Given the description of an element on the screen output the (x, y) to click on. 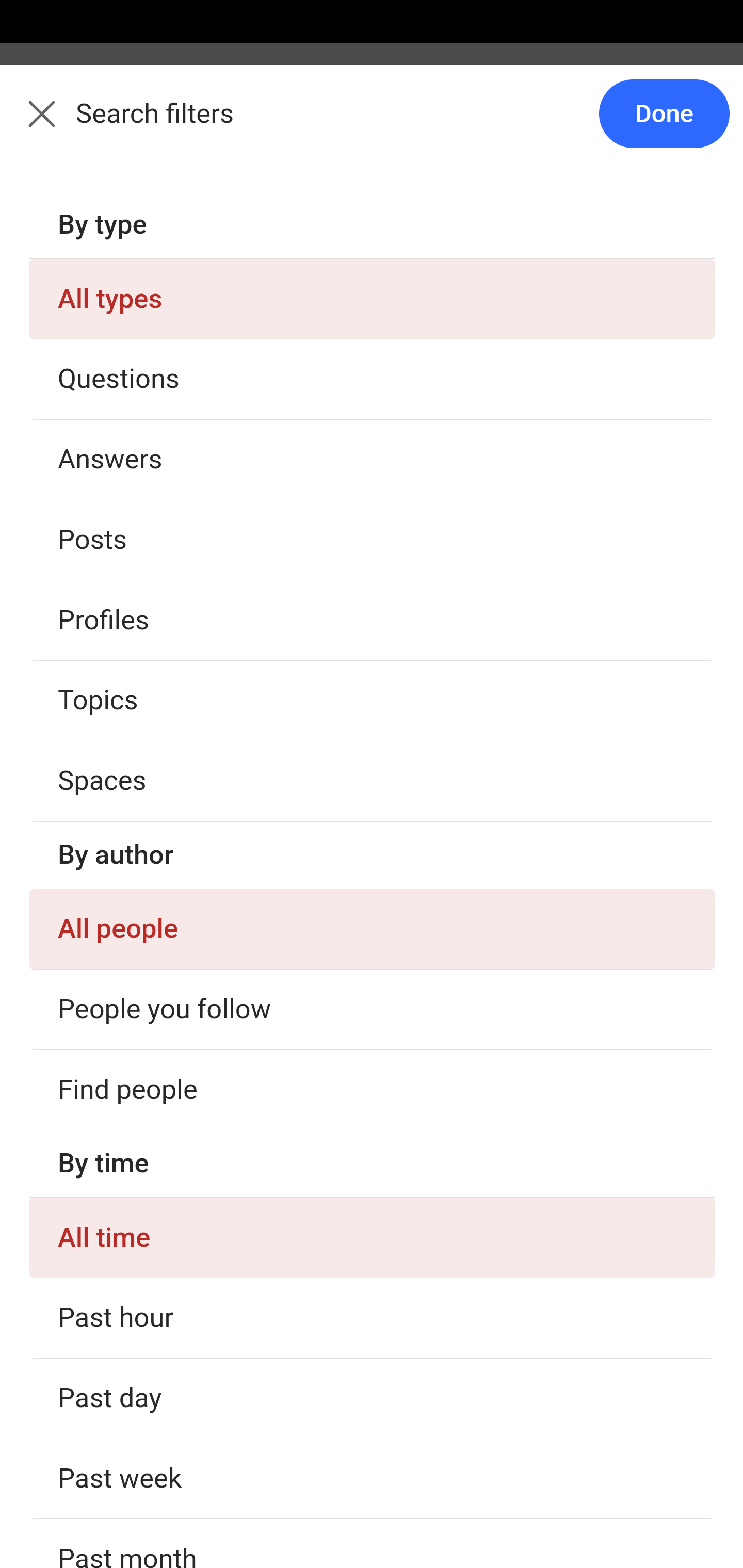
Back Search (371, 125)
Answer (125, 604)
Is Tesla nearly bankrupt? (372, 696)
